Given the description of an element on the screen output the (x, y) to click on. 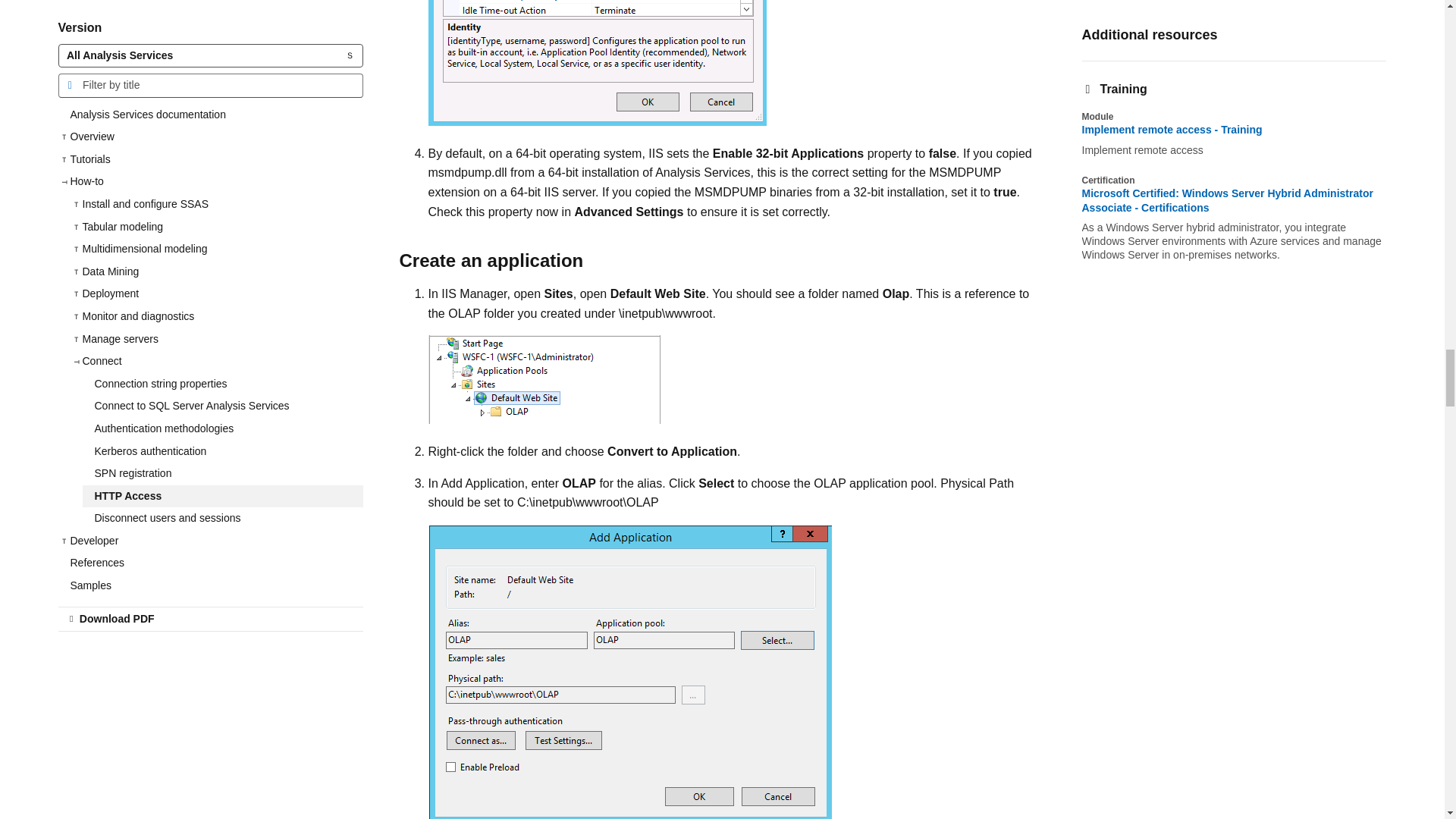
OLAP folder before converted to an app (543, 379)
Screenshot of Advanced Settings property page (596, 63)
Settings for converting application (629, 671)
